Given the description of an element on the screen output the (x, y) to click on. 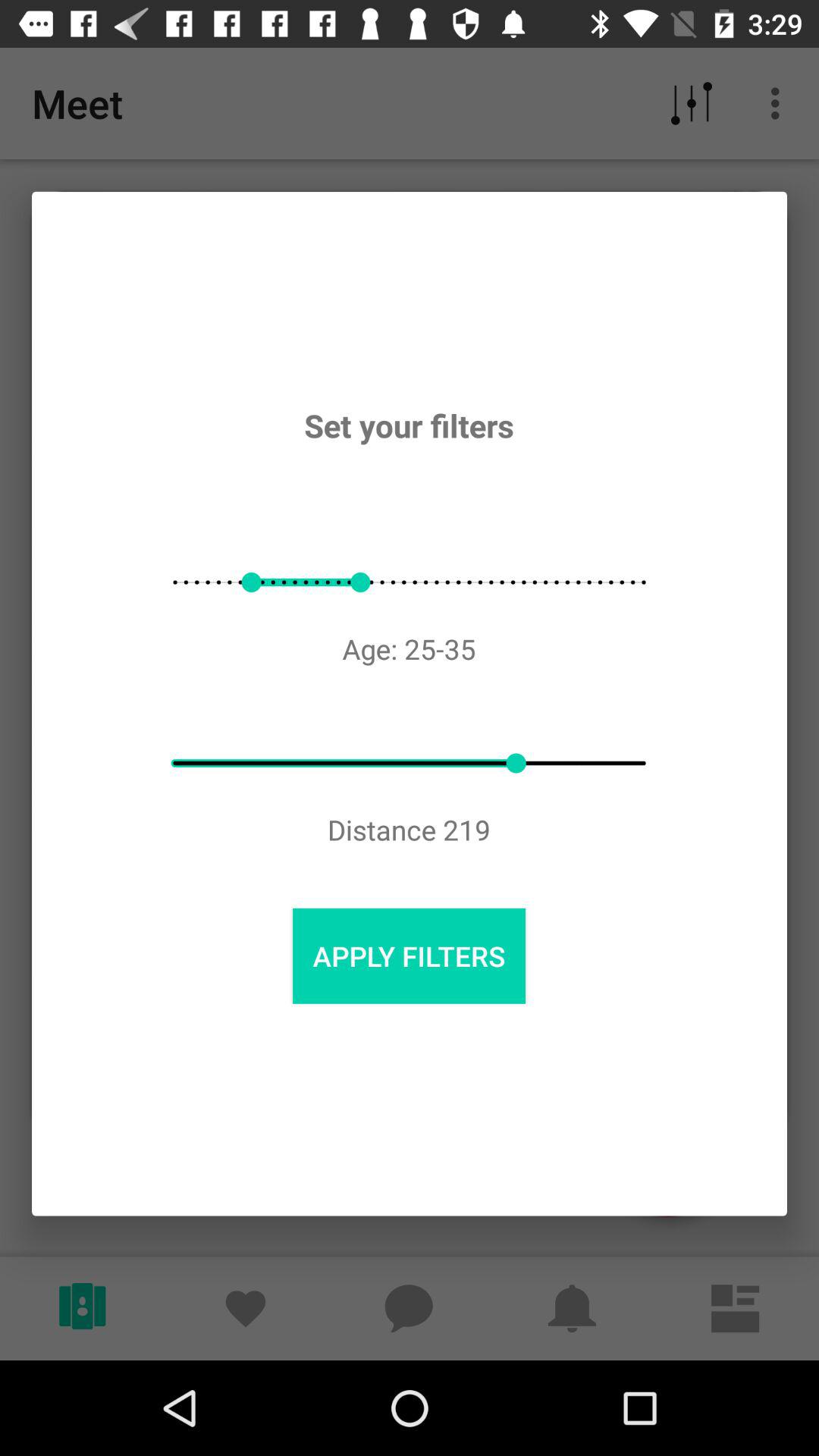
flip until apply filters (408, 955)
